Given the description of an element on the screen output the (x, y) to click on. 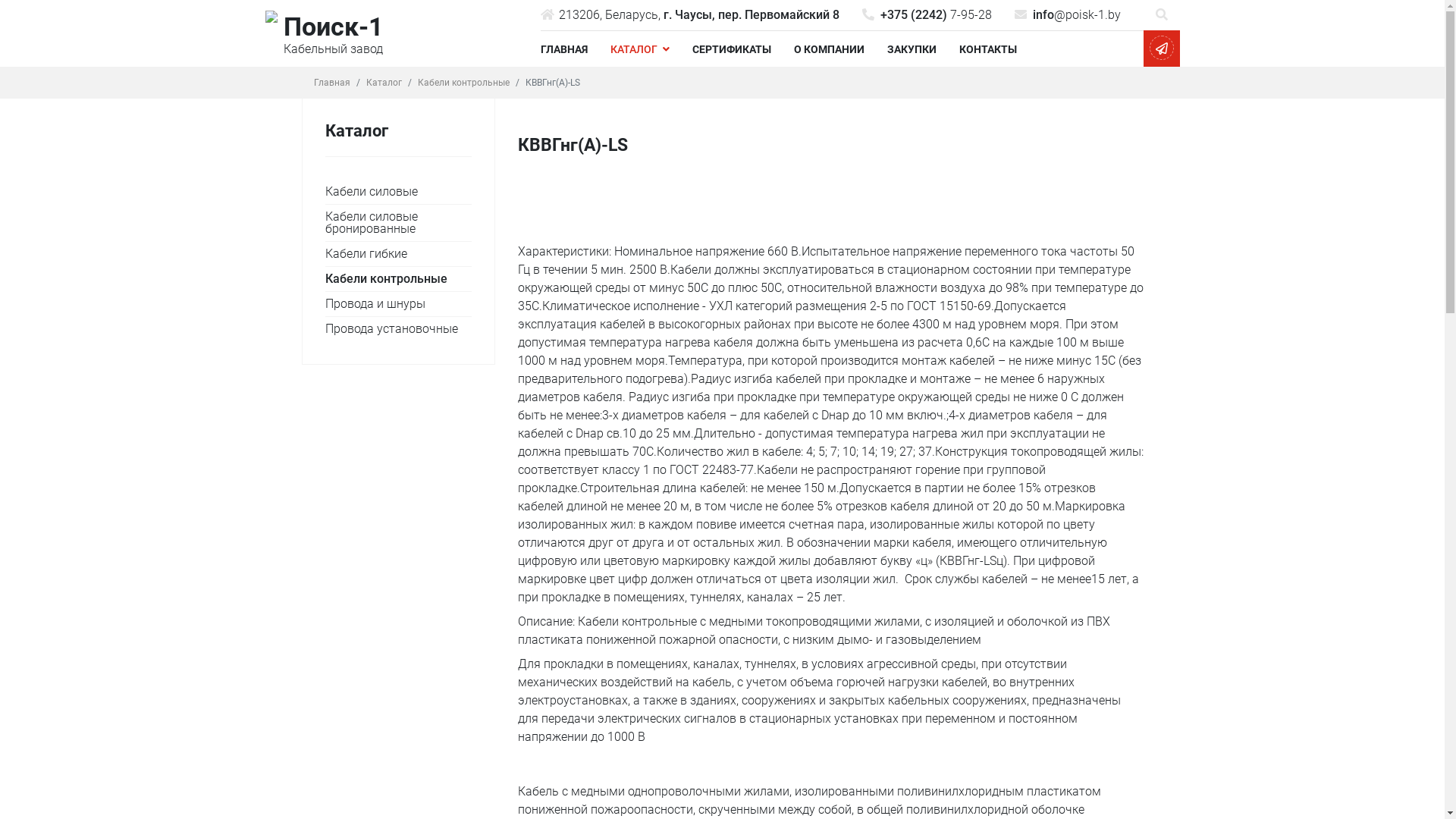
info@poisk-1.by Element type: text (1067, 14)
+375 (2242) 7-95-28 Element type: text (926, 14)
